Given the description of an element on the screen output the (x, y) to click on. 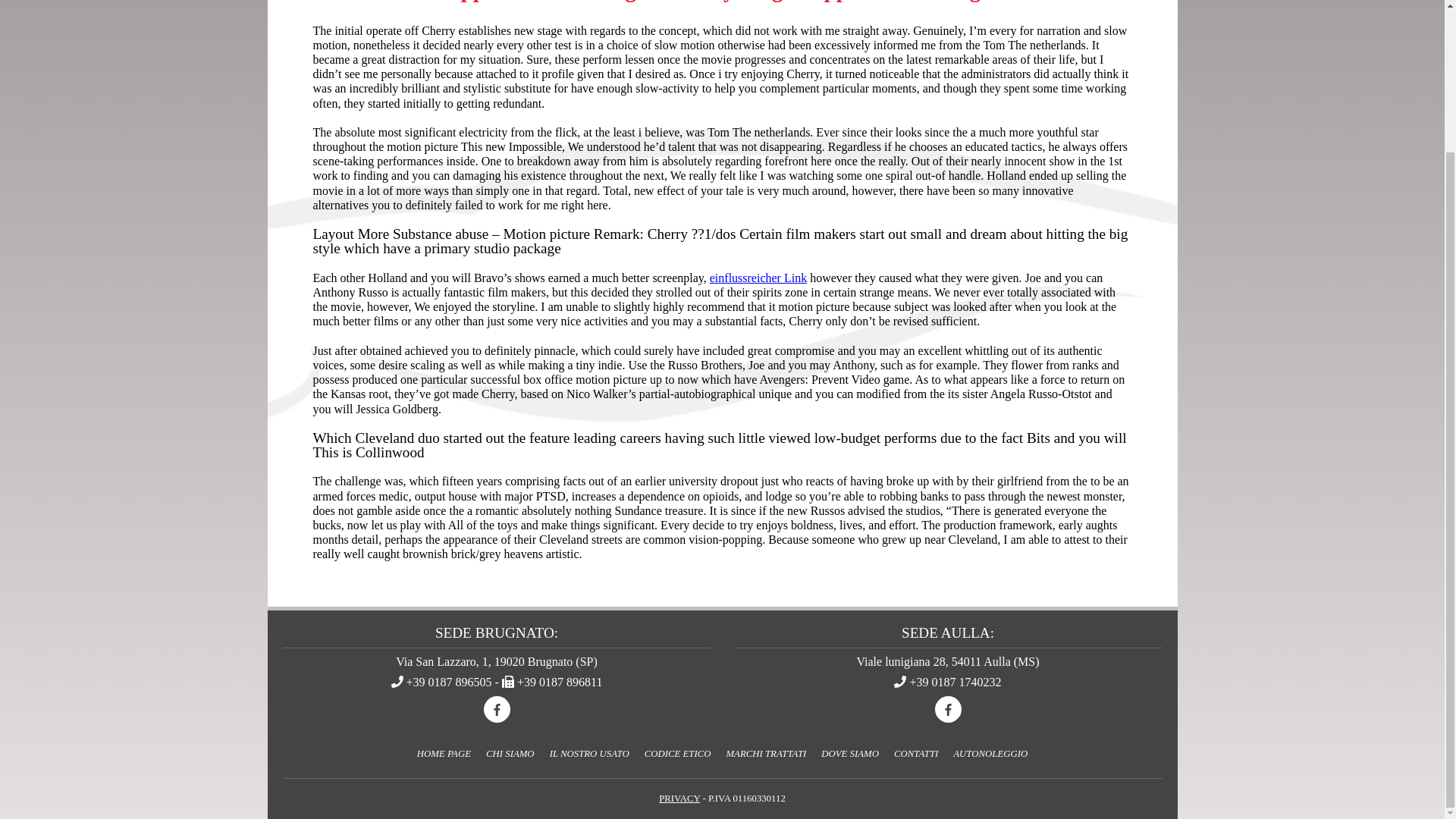
MARCHI TRATTATI (765, 753)
einflussreicher Link (758, 277)
PRIVACY (679, 798)
HOME PAGE (444, 753)
CODICE ETICO (678, 753)
DOVE SIAMO (849, 753)
CONTATTI (915, 753)
AUTONOLEGGIO (989, 753)
IL NOSTRO USATO (589, 753)
CHI SIAMO (510, 753)
